Given the description of an element on the screen output the (x, y) to click on. 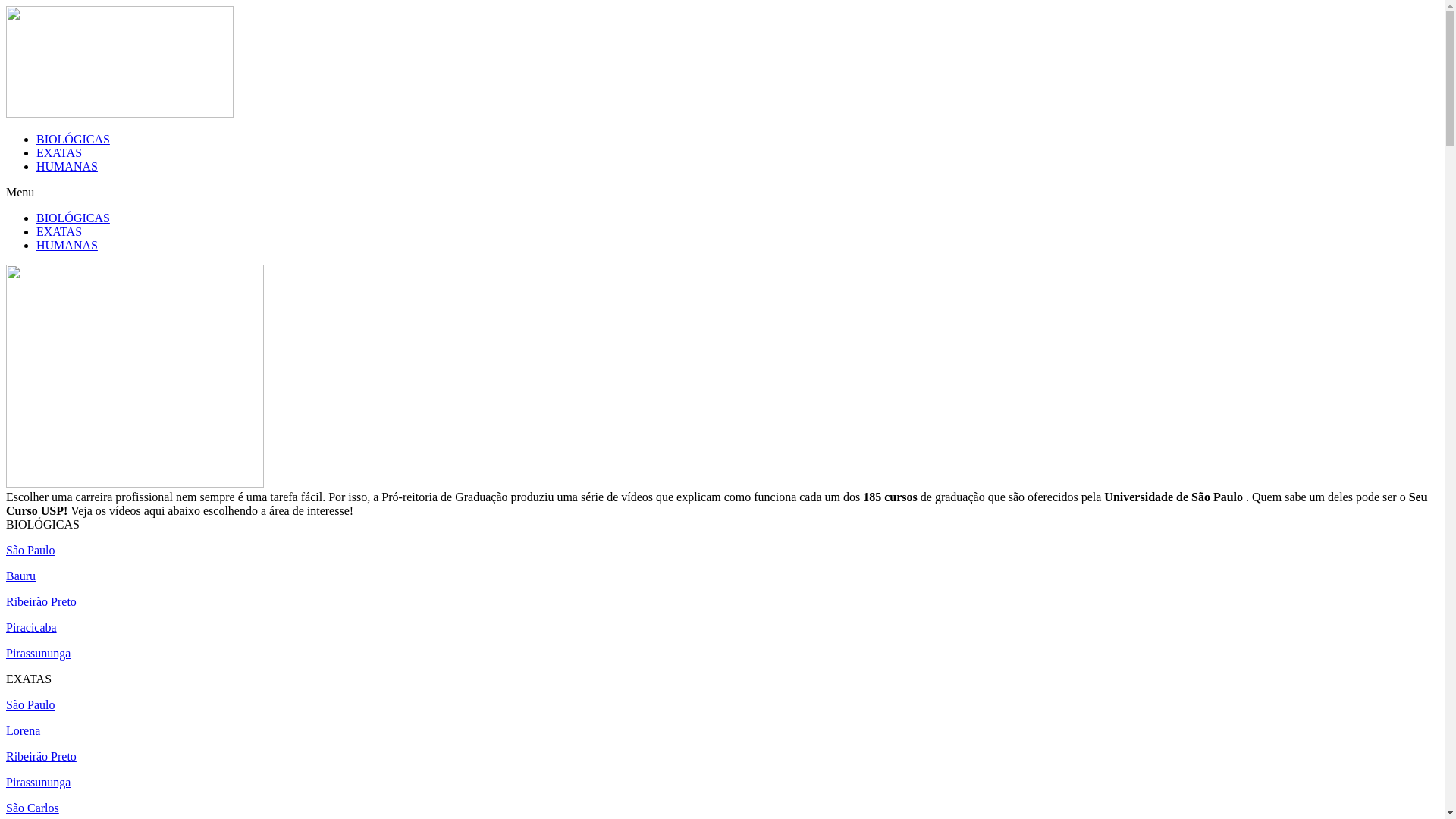
EXATAS Element type: text (58, 231)
HUMANAS Element type: text (66, 244)
Piracicaba Element type: text (31, 627)
Lorena Element type: text (23, 730)
EXATAS Element type: text (58, 152)
Pirassununga Element type: text (38, 652)
Bauru Element type: text (20, 575)
HUMANAS Element type: text (66, 166)
Pirassununga Element type: text (38, 781)
EXATAS Element type: text (28, 678)
